Given the description of an element on the screen output the (x, y) to click on. 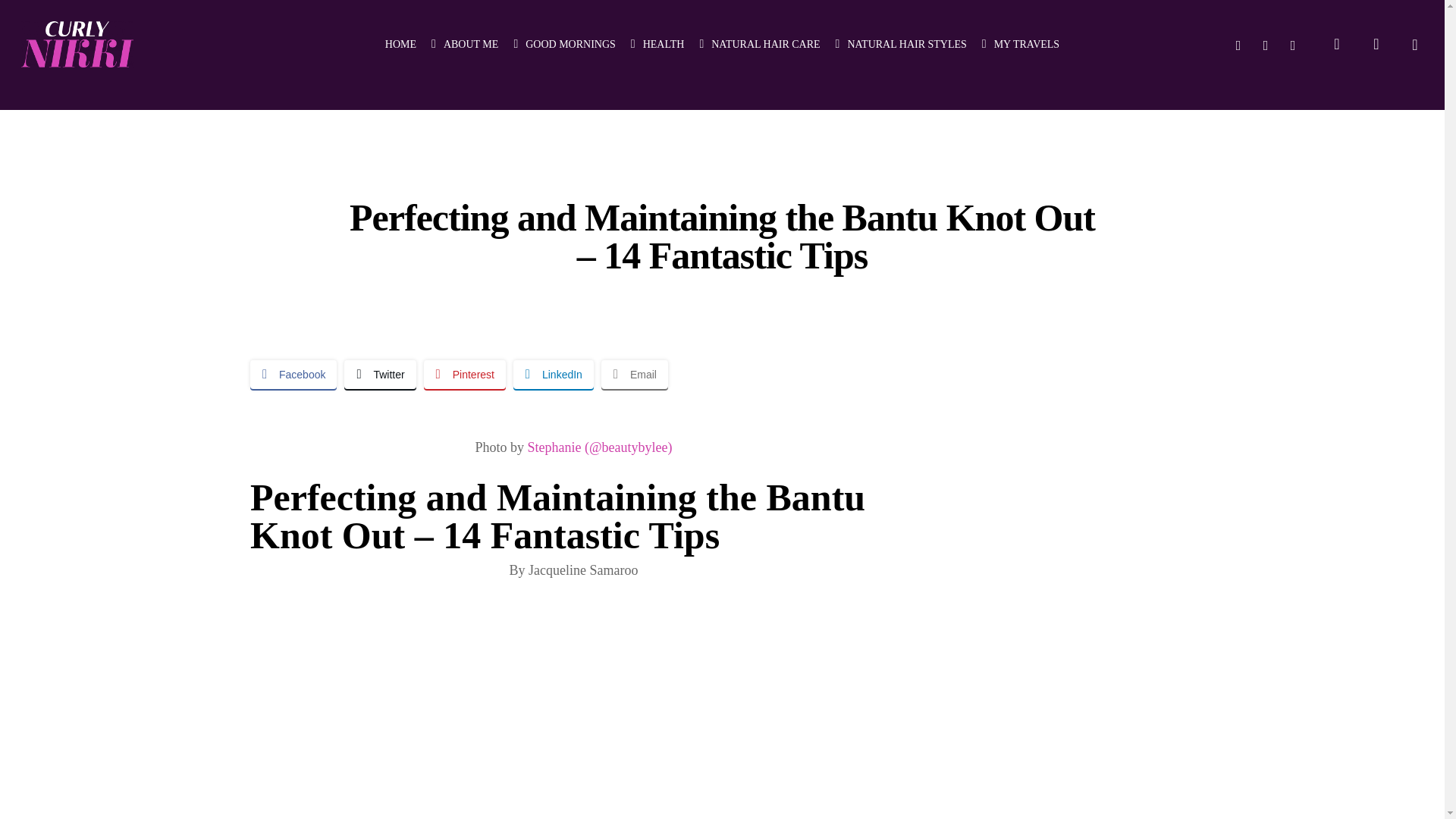
ABOUT ME (463, 44)
GOOD MORNINGS (563, 44)
HEALTH (657, 44)
NATURAL HAIR CARE (758, 44)
NATURAL HAIR STYLES (900, 44)
HOME (400, 44)
